Given the description of an element on the screen output the (x, y) to click on. 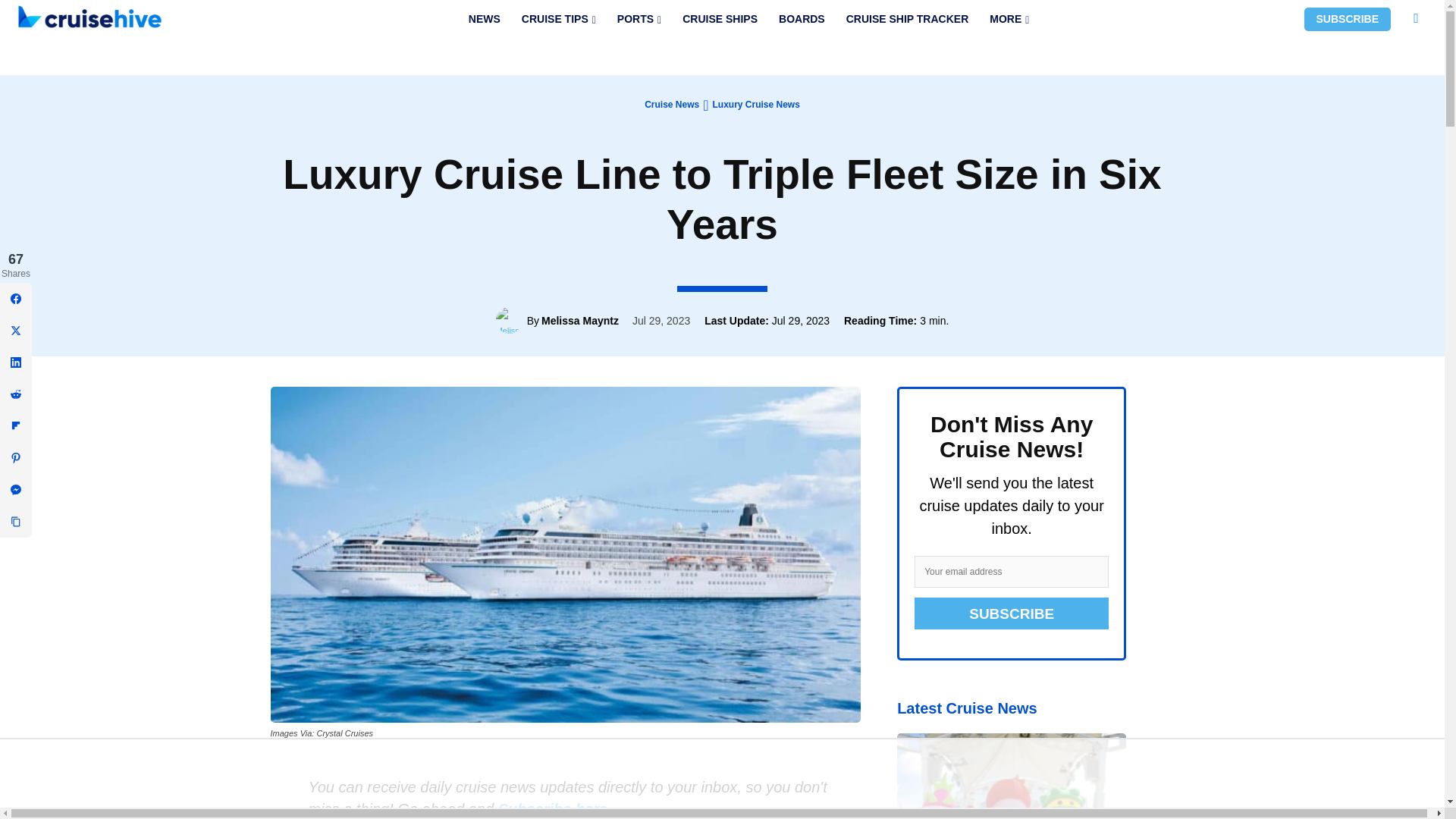
SUBSCRIBE (1347, 19)
PORTS (639, 19)
Resorts World Cruises Launches Exclusive Durian Party (1010, 776)
Melissa Mayntz (511, 320)
View all posts in Cruise News (671, 104)
View all posts in Luxury Cruise News (755, 104)
CRUISE TIPS (559, 19)
NEWS (484, 19)
